Given the description of an element on the screen output the (x, y) to click on. 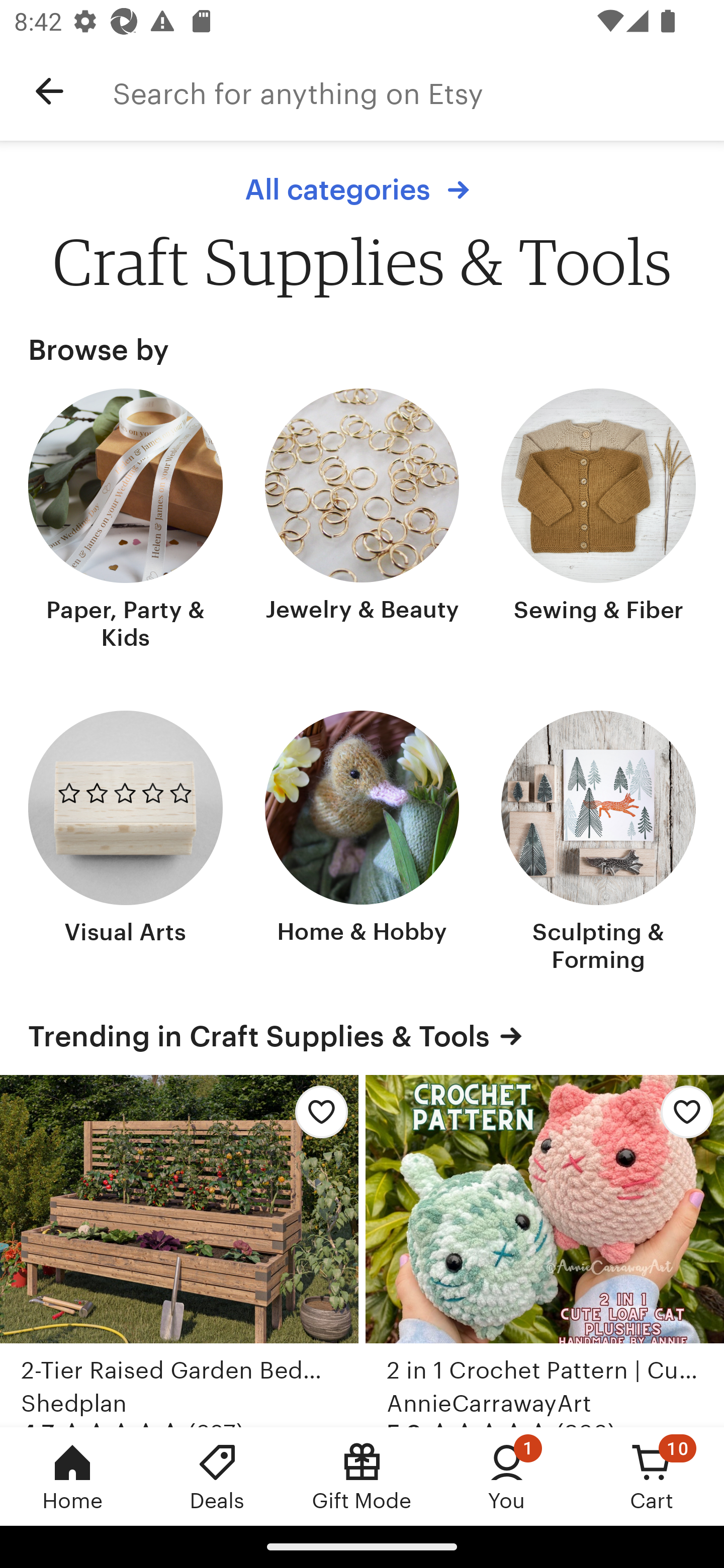
Navigate up (49, 91)
Search for anything on Etsy (418, 91)
All categories (361, 189)
Paper, Party & Kids (125, 520)
Jewelry & Beauty (361, 520)
Sewing & Fiber (598, 520)
Visual Arts (125, 843)
Home & Hobby (361, 843)
Sculpting & Forming (598, 843)
Trending in Craft Supplies & Tools  (361, 1036)
Deals (216, 1475)
Gift Mode (361, 1475)
You, 1 new notification You (506, 1475)
Cart, 10 new notifications Cart (651, 1475)
